Given the description of an element on the screen output the (x, y) to click on. 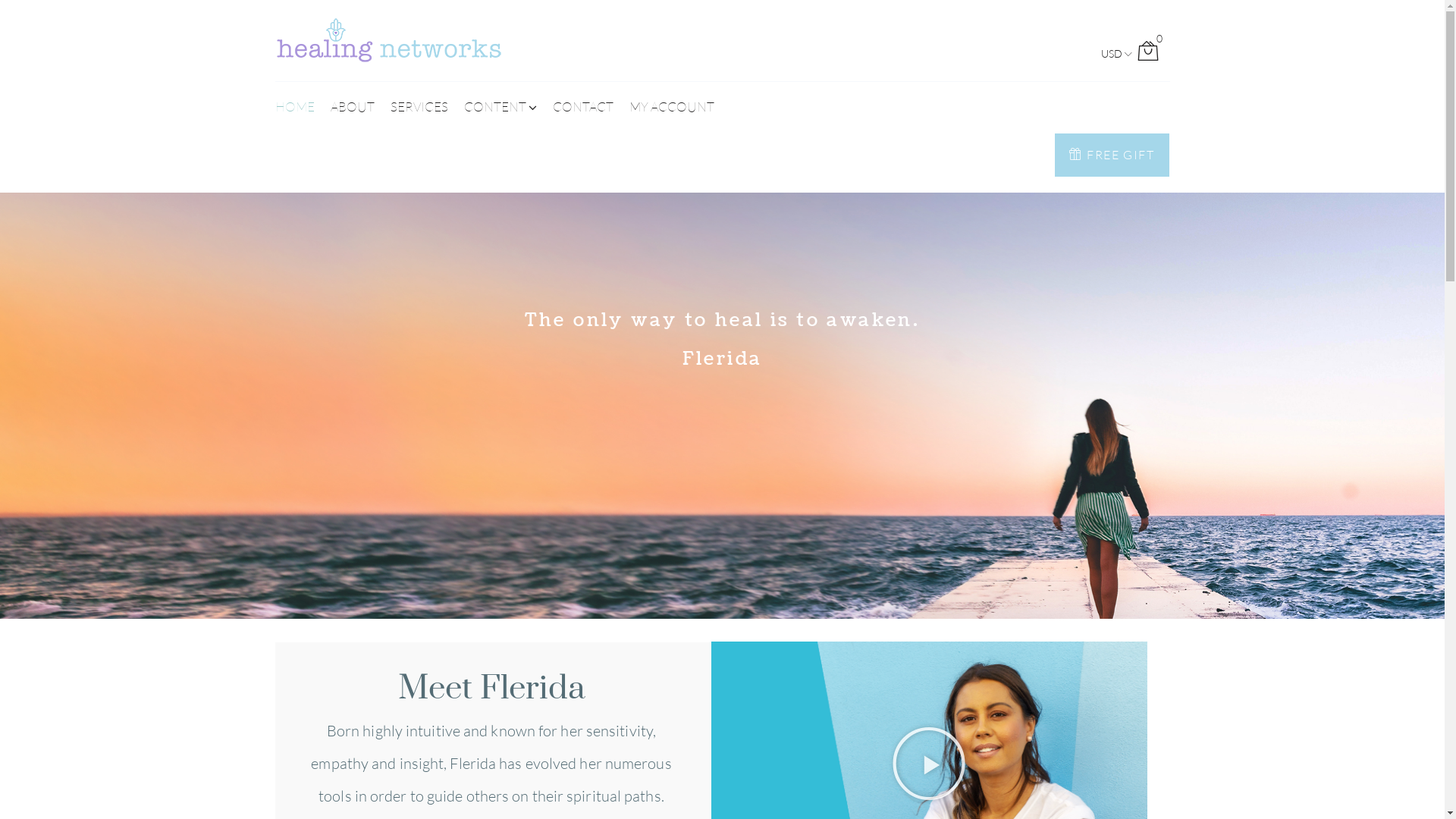
HOME Element type: text (293, 107)
MY ACCOUNT Element type: text (671, 107)
USD Element type: text (1110, 54)
ABOUT Element type: text (352, 107)
CONTACT Element type: text (582, 107)
SERVICES Element type: text (418, 107)
FREE GIFT Element type: text (1111, 154)
CONTENT Element type: text (500, 107)
